Given the description of an element on the screen output the (x, y) to click on. 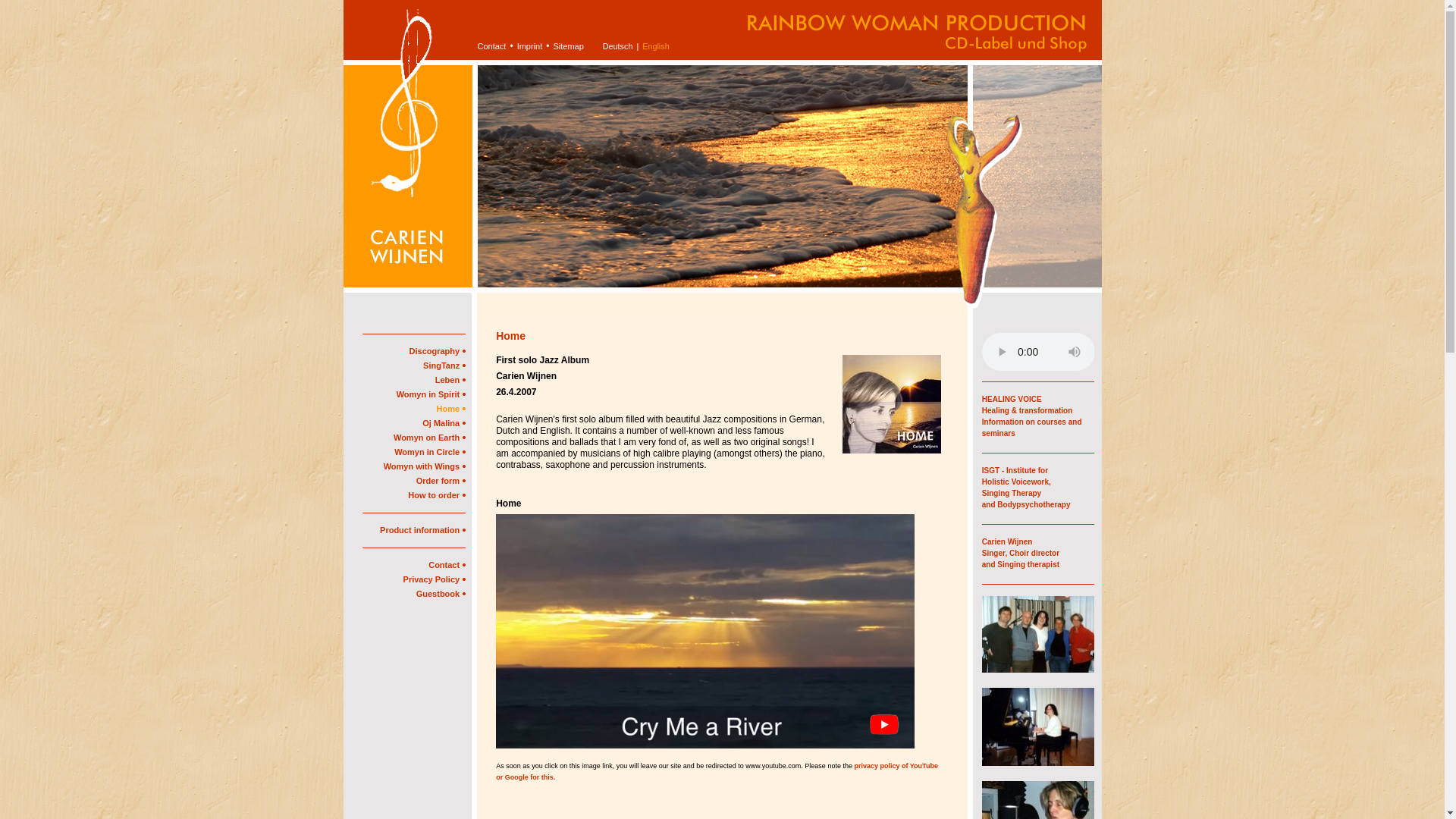
Product information (422, 529)
Womyn on Earth (429, 437)
Leben (450, 379)
Womyn in Spirit (430, 393)
Opens external link in new window (1020, 552)
SingTanz (444, 365)
Home (450, 408)
Contact (446, 564)
How to order (436, 494)
Deutsch (617, 45)
Oj Malina (443, 422)
Opens external link in new window (1025, 487)
Womyn with Wings (424, 465)
Cry me a river (705, 631)
Privacy Policy (434, 578)
